Given the description of an element on the screen output the (x, y) to click on. 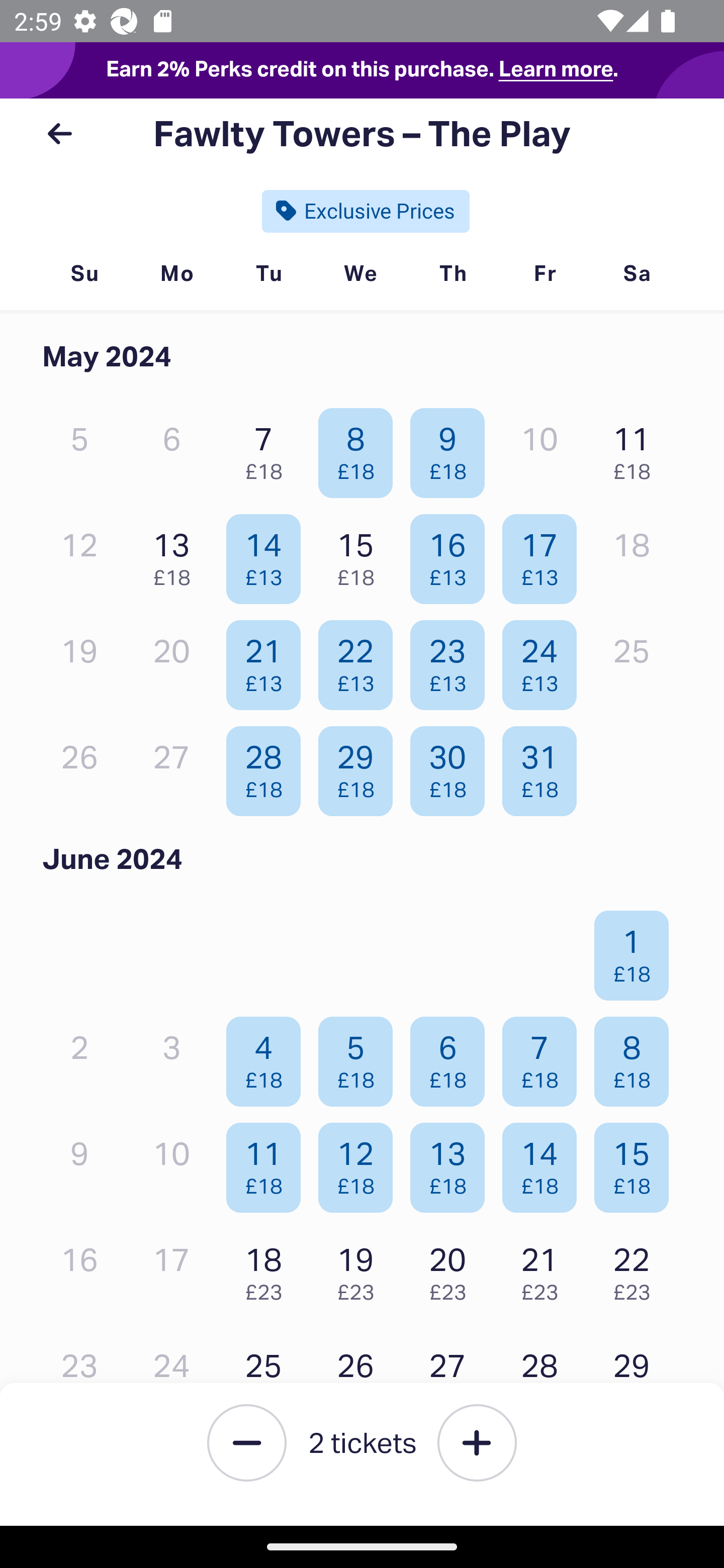
Earn 2% Perks credit on this purchase. Learn more. (362, 70)
back button (59, 133)
Exclusive Prices (365, 210)
7 £18 (268, 448)
8 £18 (360, 448)
9 £18 (452, 448)
11 £18 (636, 448)
13 £18 (176, 553)
14 £13 (268, 553)
15 £18 (360, 553)
16 £13 (452, 553)
17 £13 (544, 553)
21 £13 (268, 660)
22 £13 (360, 660)
23 £13 (452, 660)
24 £13 (544, 660)
28 £18 (268, 766)
29 £18 (360, 766)
30 £18 (452, 766)
31 £18 (544, 766)
1 £18 (636, 950)
4 £18 (268, 1057)
5 £18 (360, 1057)
6 £18 (452, 1057)
7 £18 (544, 1057)
8 £18 (636, 1057)
11 £18 (268, 1162)
12 £18 (360, 1162)
13 £18 (452, 1162)
14 £18 (544, 1162)
15 £18 (636, 1162)
18 £23 (268, 1268)
19 £23 (360, 1268)
20 £23 (452, 1268)
21 £23 (544, 1268)
22 £23 (636, 1268)
25 £23 (268, 1375)
26 £23 (360, 1375)
27 £23 (452, 1375)
28 £23 (544, 1375)
29 £23 (636, 1375)
